Given the description of an element on the screen output the (x, y) to click on. 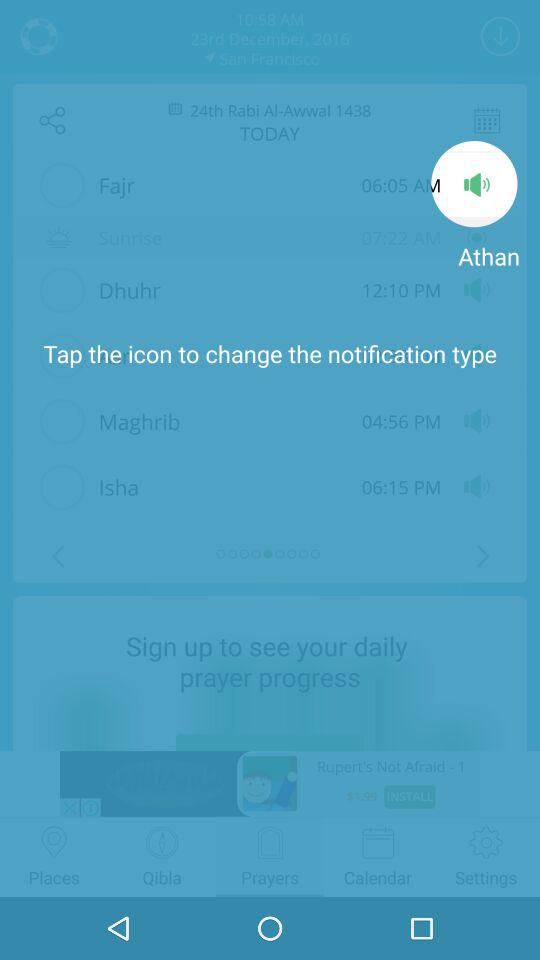
click on the prayers icon (269, 842)
select the places icon at the bottom (53, 842)
